Given the description of an element on the screen output the (x, y) to click on. 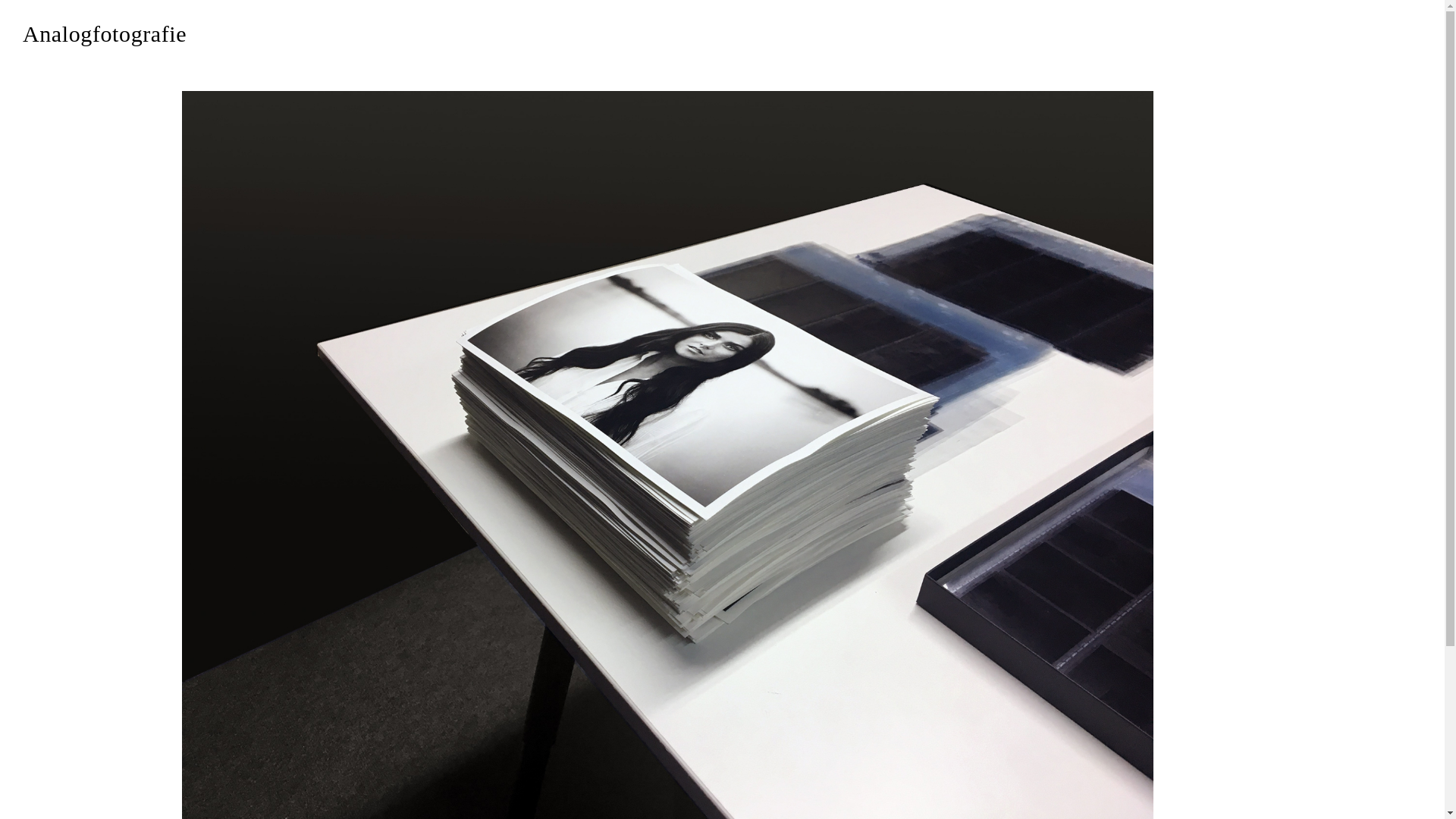
Analogfotografie Element type: text (104, 35)
